Given the description of an element on the screen output the (x, y) to click on. 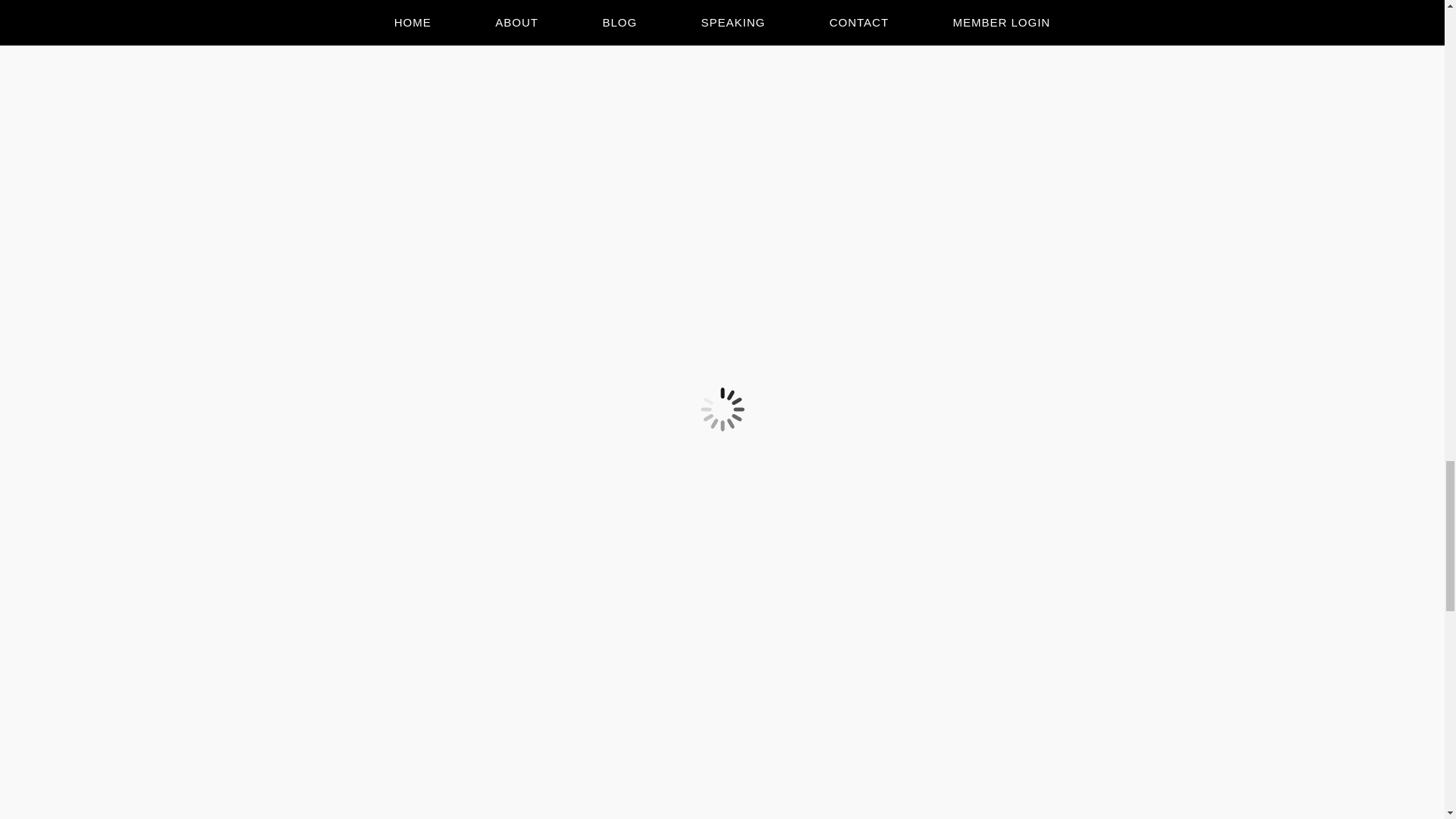
selling more books (911, 600)
book promotions (1061, 600)
BUSINESS MARKETING (403, 602)
Pinterest (454, 530)
Posts by Kristen Joy Laidig (405, 567)
24Novembers (534, 467)
tips to help you sell more books (1026, 616)
using your connections to promote your book (994, 632)
book tours (989, 600)
Kristen Joy Laidig (405, 567)
